Given the description of an element on the screen output the (x, y) to click on. 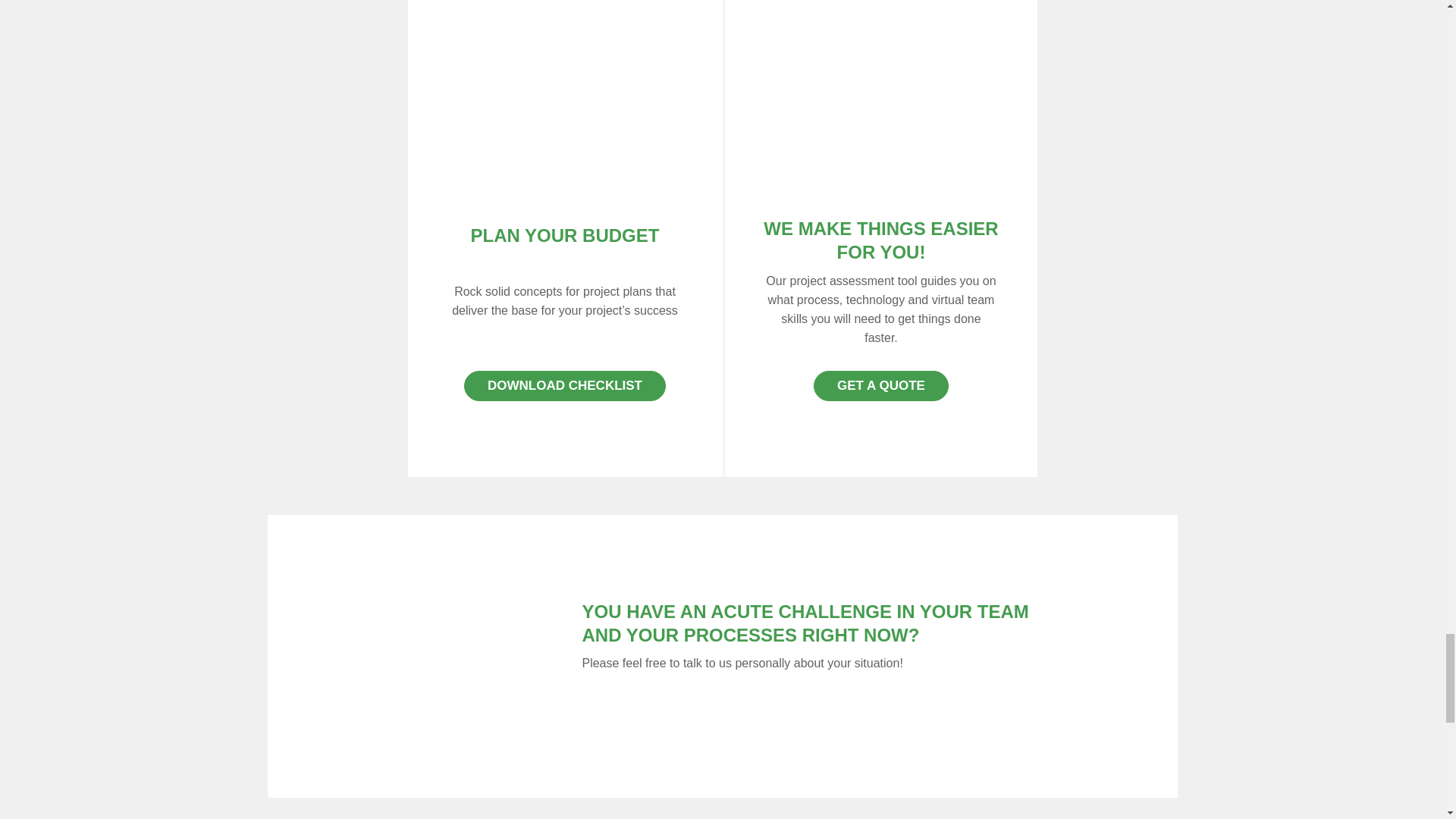
DOWNLOAD CHECKLIST (564, 386)
a (565, 115)
GET A QUOTE (881, 386)
b (880, 119)
